Given the description of an element on the screen output the (x, y) to click on. 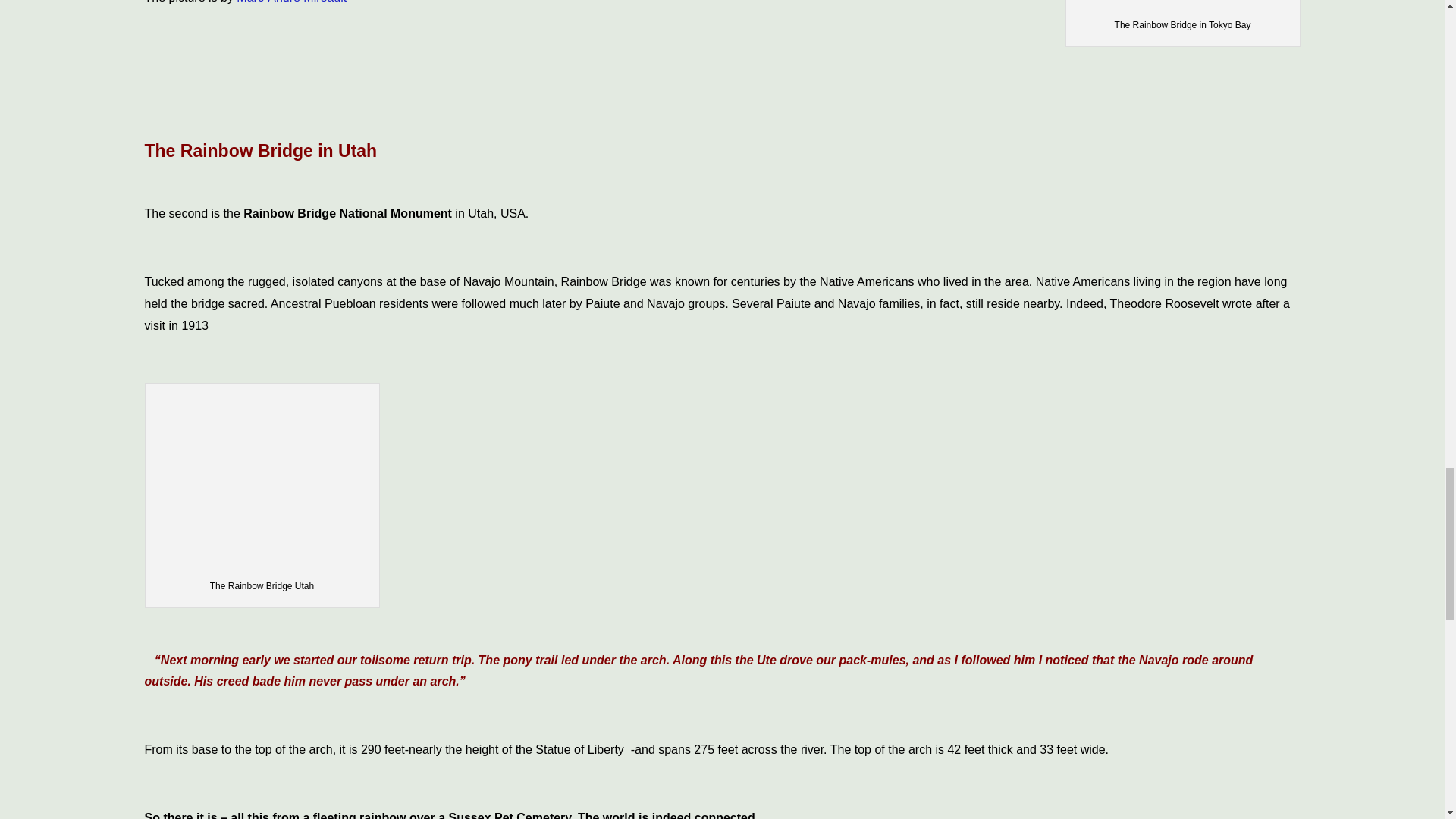
tokyo rainbow bridge (1182, 7)
Photos by Marc-Andre Mireault (290, 2)
utah rainbow bridge (261, 472)
